Given the description of an element on the screen output the (x, y) to click on. 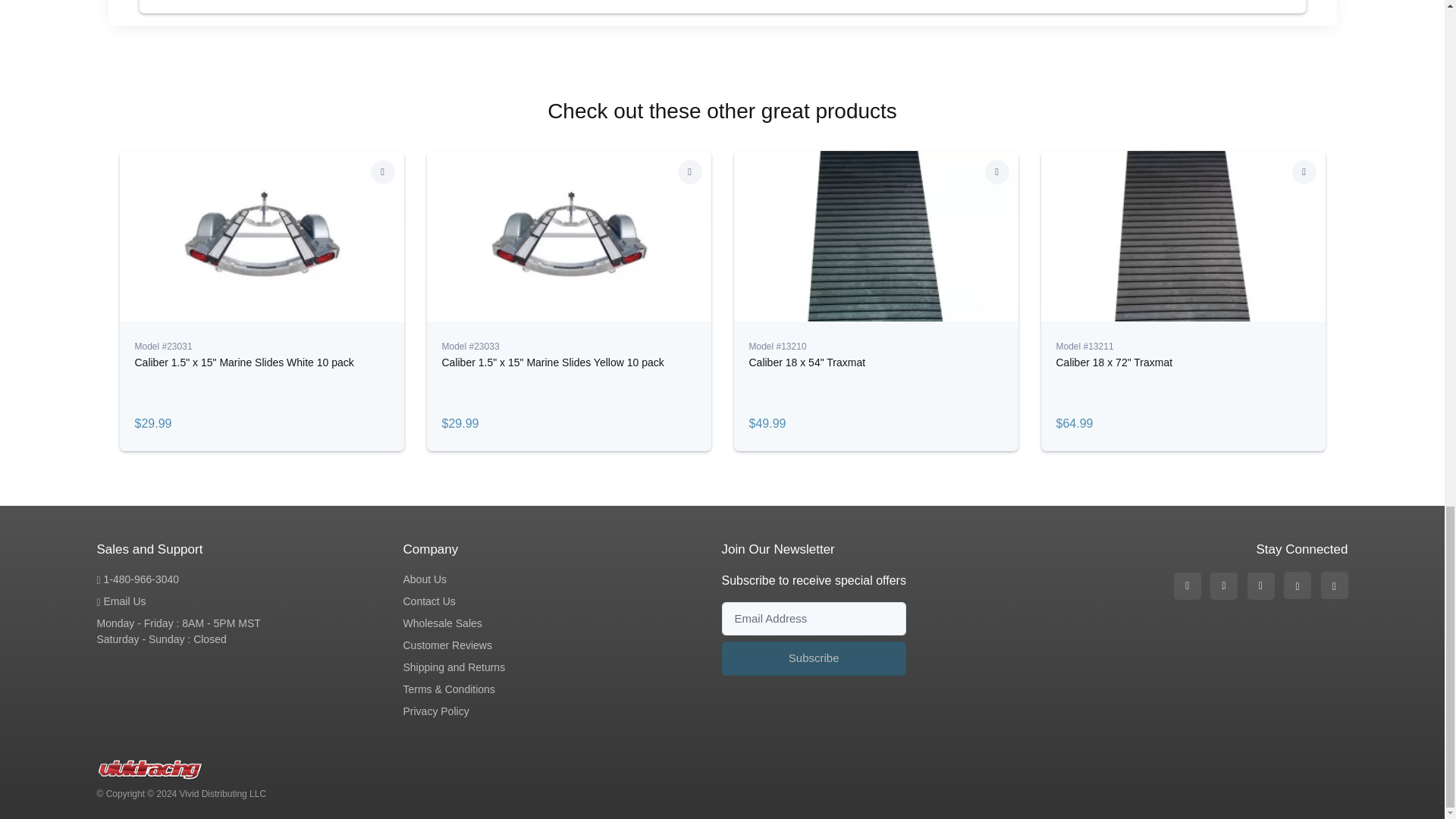
Add to Wishlist (381, 171)
Add to Wishlist (996, 171)
Add to Wishlist (1304, 171)
Add to Wishlist (689, 171)
Subscribe (813, 658)
